Given the description of an element on the screen output the (x, y) to click on. 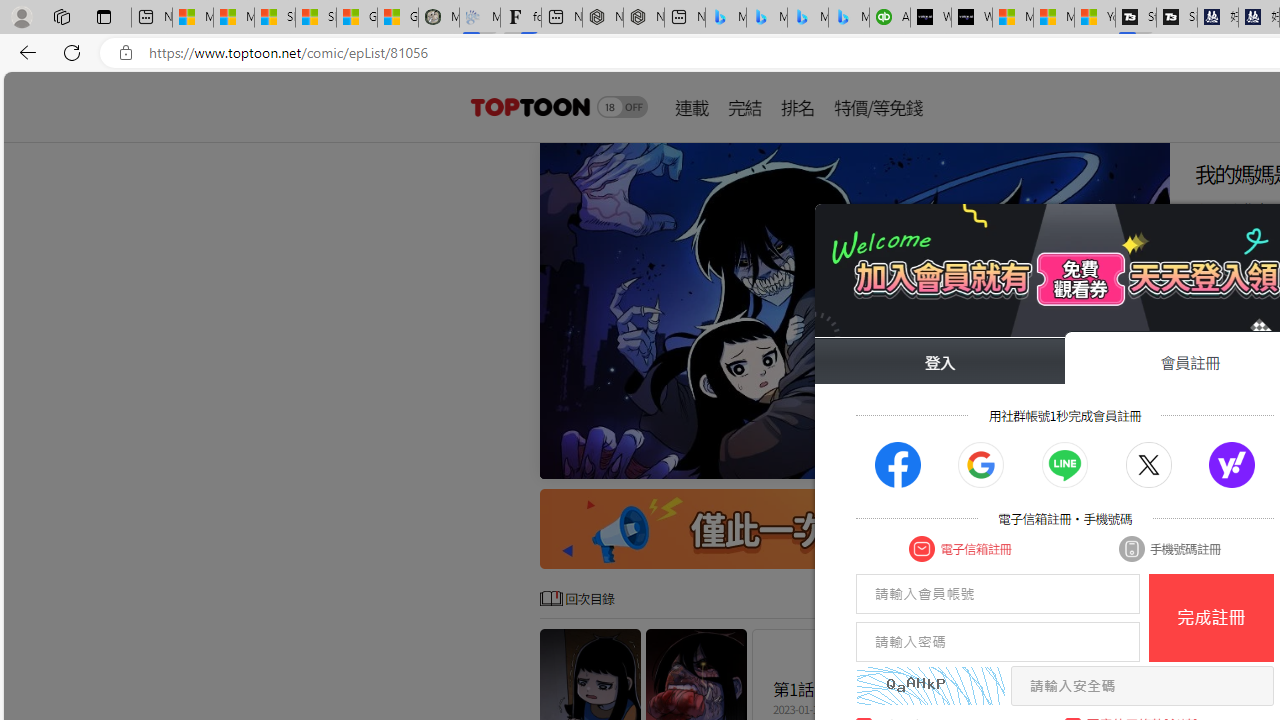
Go to slide 4 (1050, 461)
Class: swiper-slide swiper-slide-active (854, 310)
Go to slide 1 (1002, 461)
Class: swiper-slide swiper-slide-duplicate swiper-slide-next (854, 310)
Go to slide 9 (1130, 461)
Go to slide 7 (1098, 461)
